Given the description of an element on the screen output the (x, y) to click on. 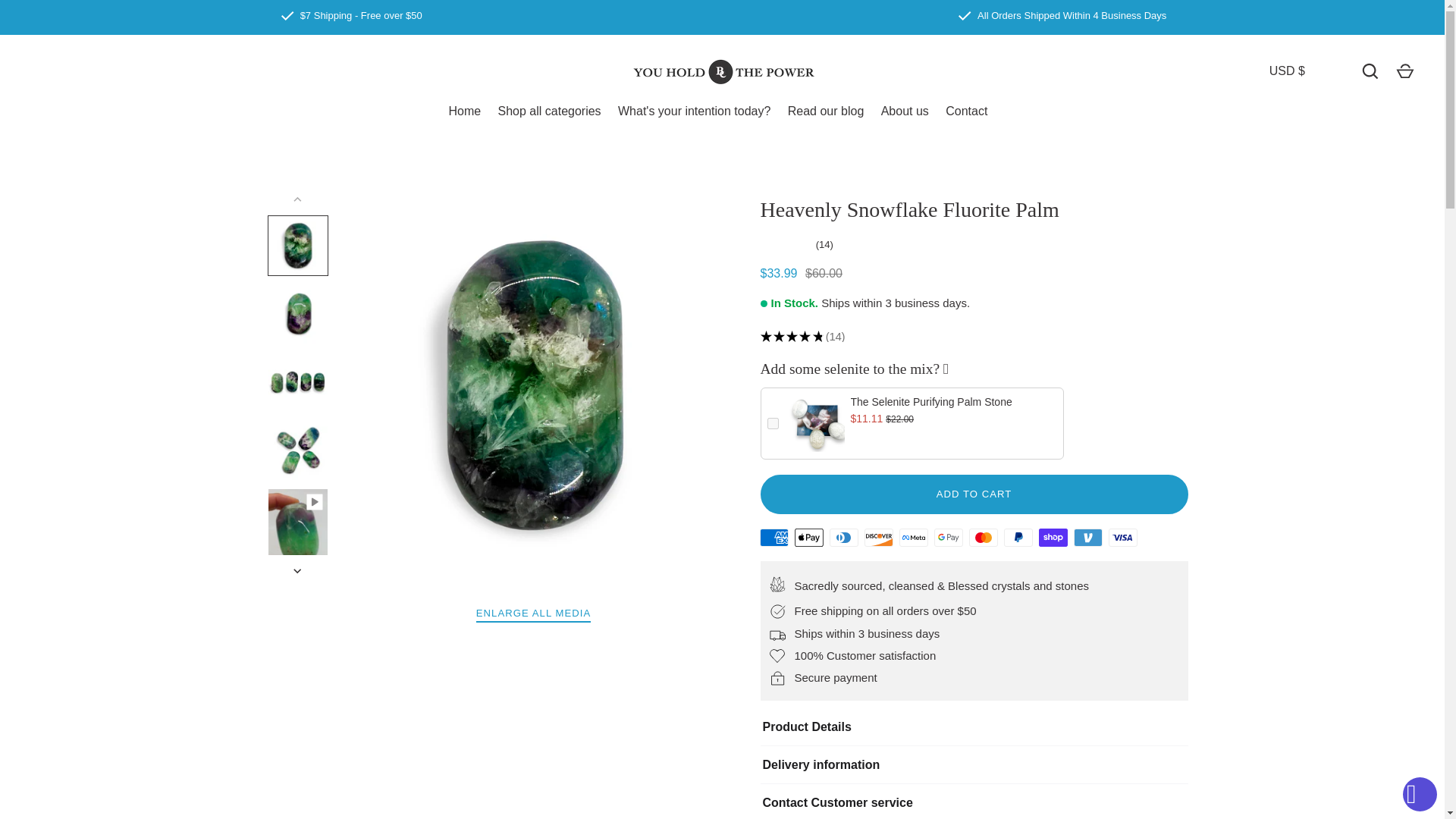
Contact (966, 115)
Shop all categories (548, 115)
Home (464, 115)
About us (904, 115)
on (772, 423)
What's your intention today? (694, 115)
Read our blog (825, 115)
